Given the description of an element on the screen output the (x, y) to click on. 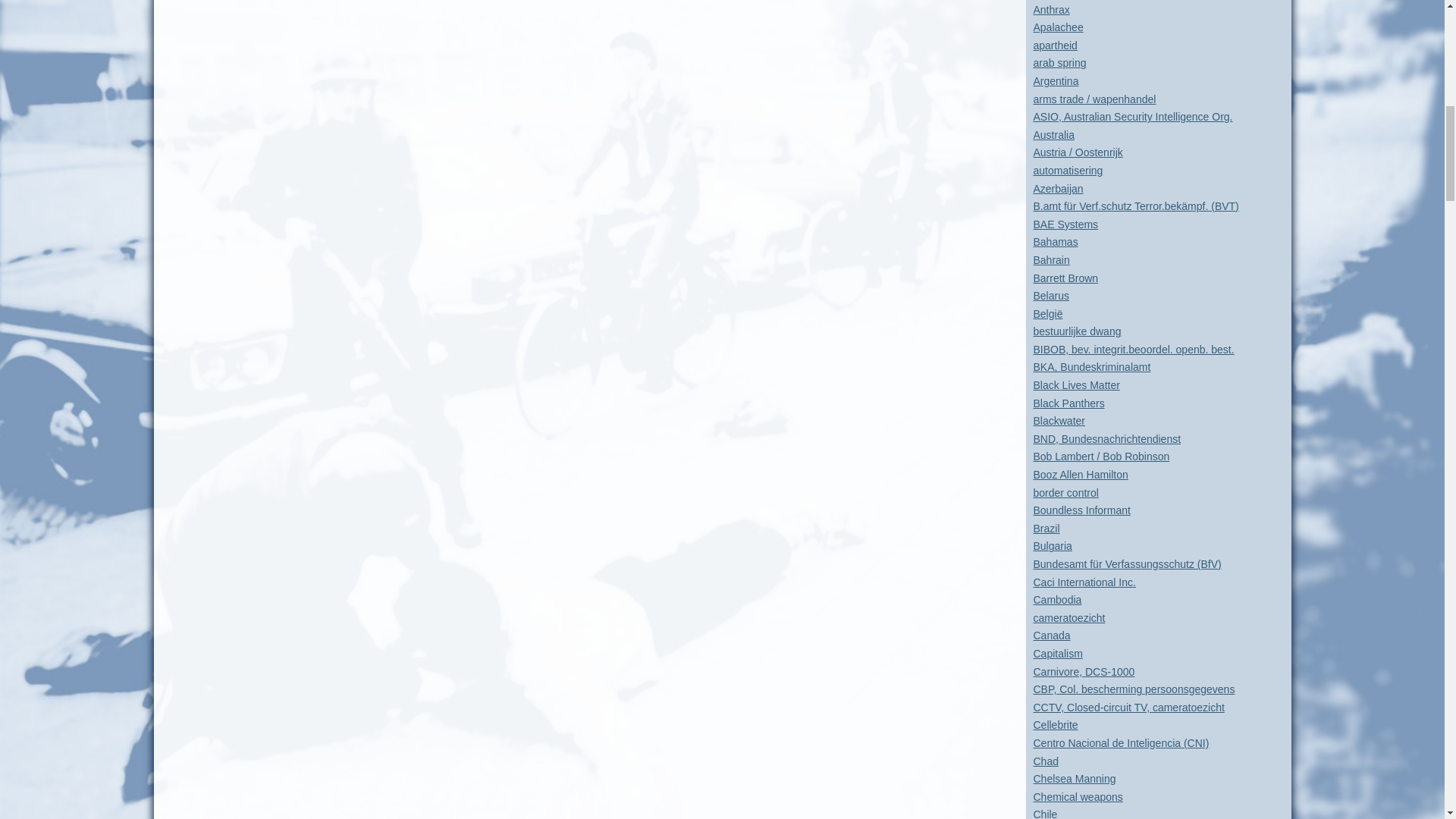
Bahamas (1054, 241)
Anthrax (1050, 9)
Belarus (1050, 295)
arab spring (1059, 62)
Apalachee (1057, 27)
Argentina (1055, 80)
Barrett Brown (1064, 277)
Australia (1053, 134)
automatisering (1067, 170)
Azerbaijan (1057, 188)
Bahrain (1050, 259)
BAE Systems (1064, 224)
apartheid (1054, 45)
ASIO, Australian Security Intelligence Org. (1131, 116)
